Given the description of an element on the screen output the (x, y) to click on. 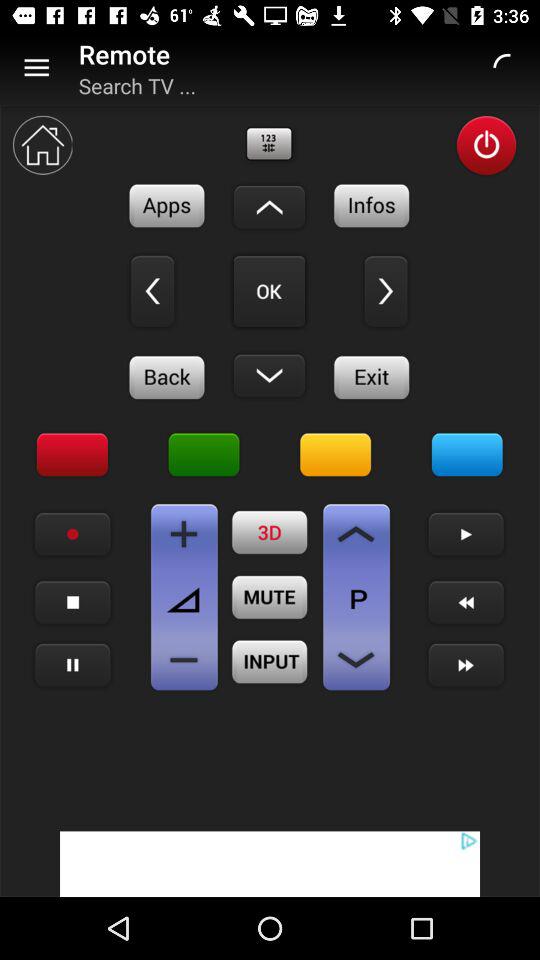
previous video (466, 602)
